Given the description of an element on the screen output the (x, y) to click on. 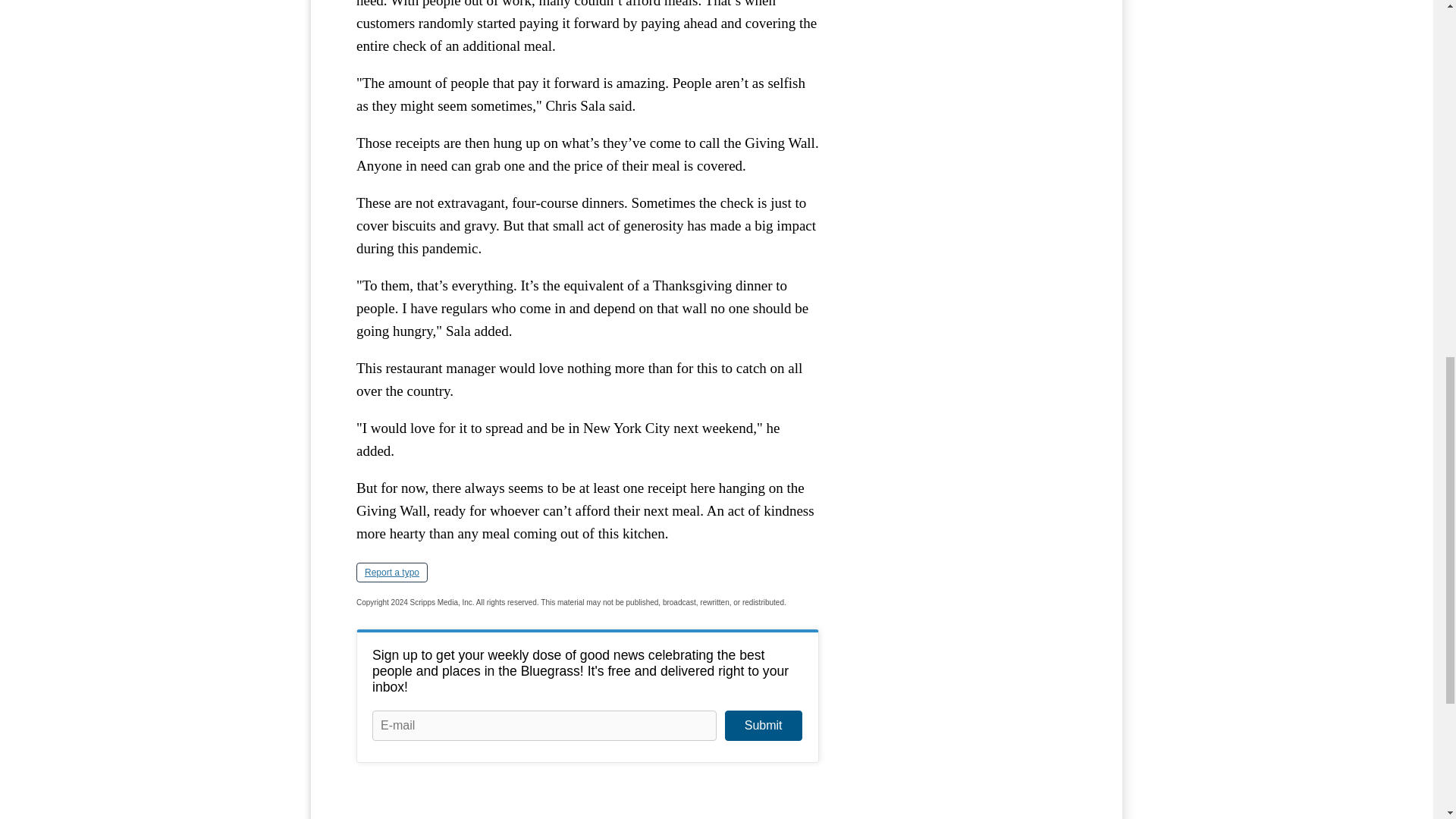
Submit (763, 725)
